Given the description of an element on the screen output the (x, y) to click on. 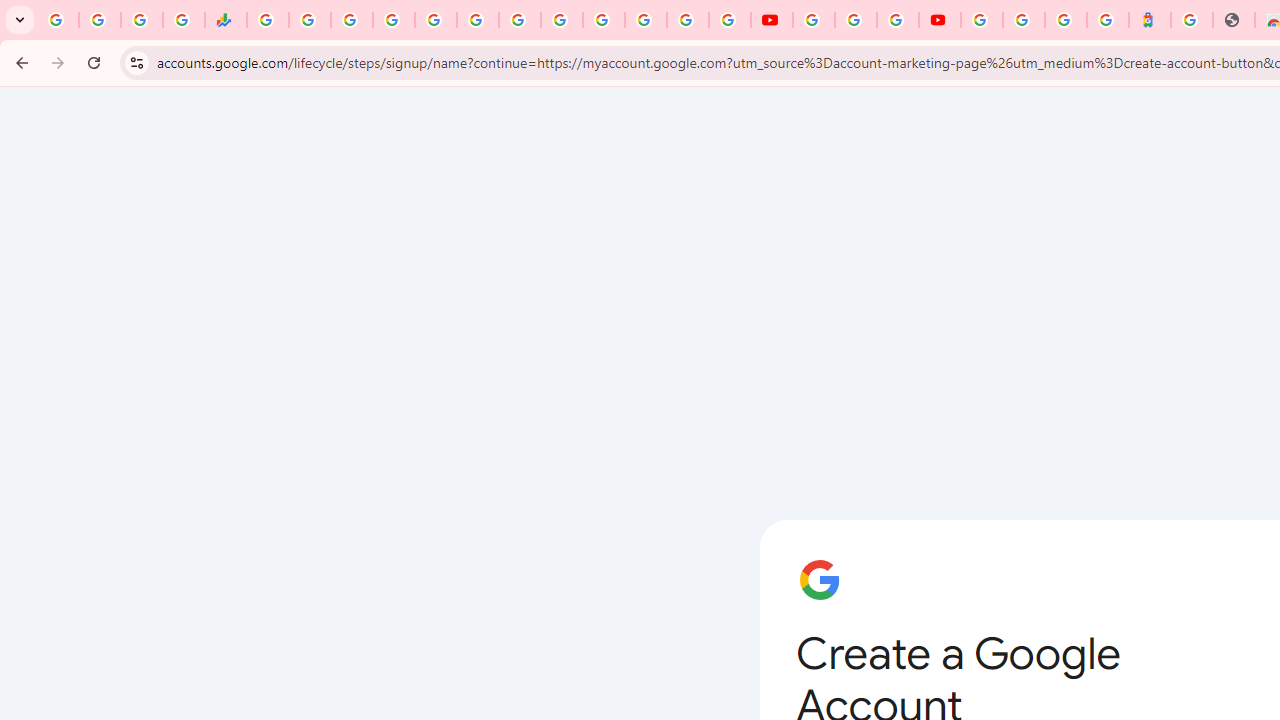
Sign in - Google Accounts (603, 20)
YouTube (772, 20)
